Given the description of an element on the screen output the (x, y) to click on. 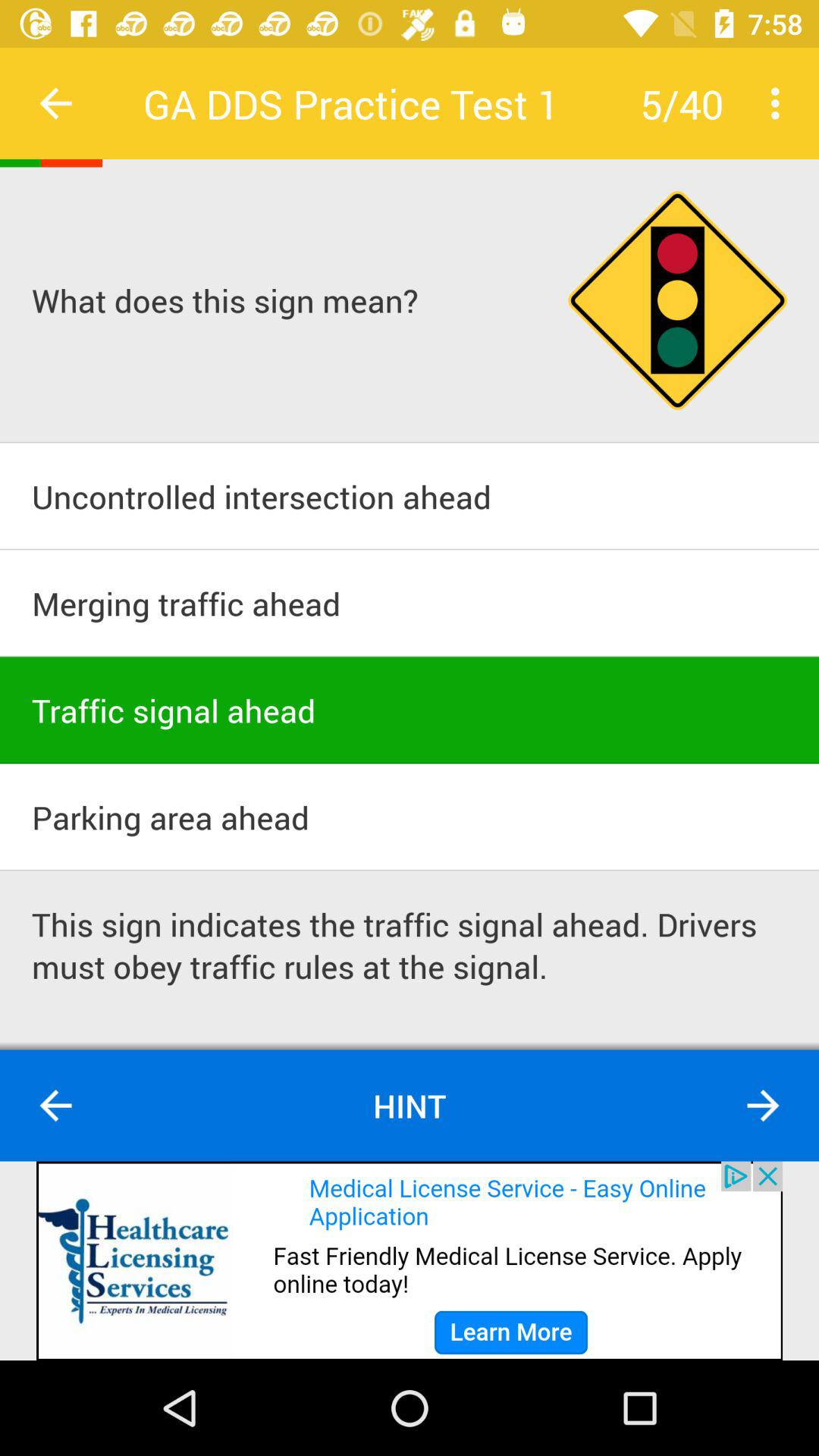
advertisement (409, 1260)
